Given the description of an element on the screen output the (x, y) to click on. 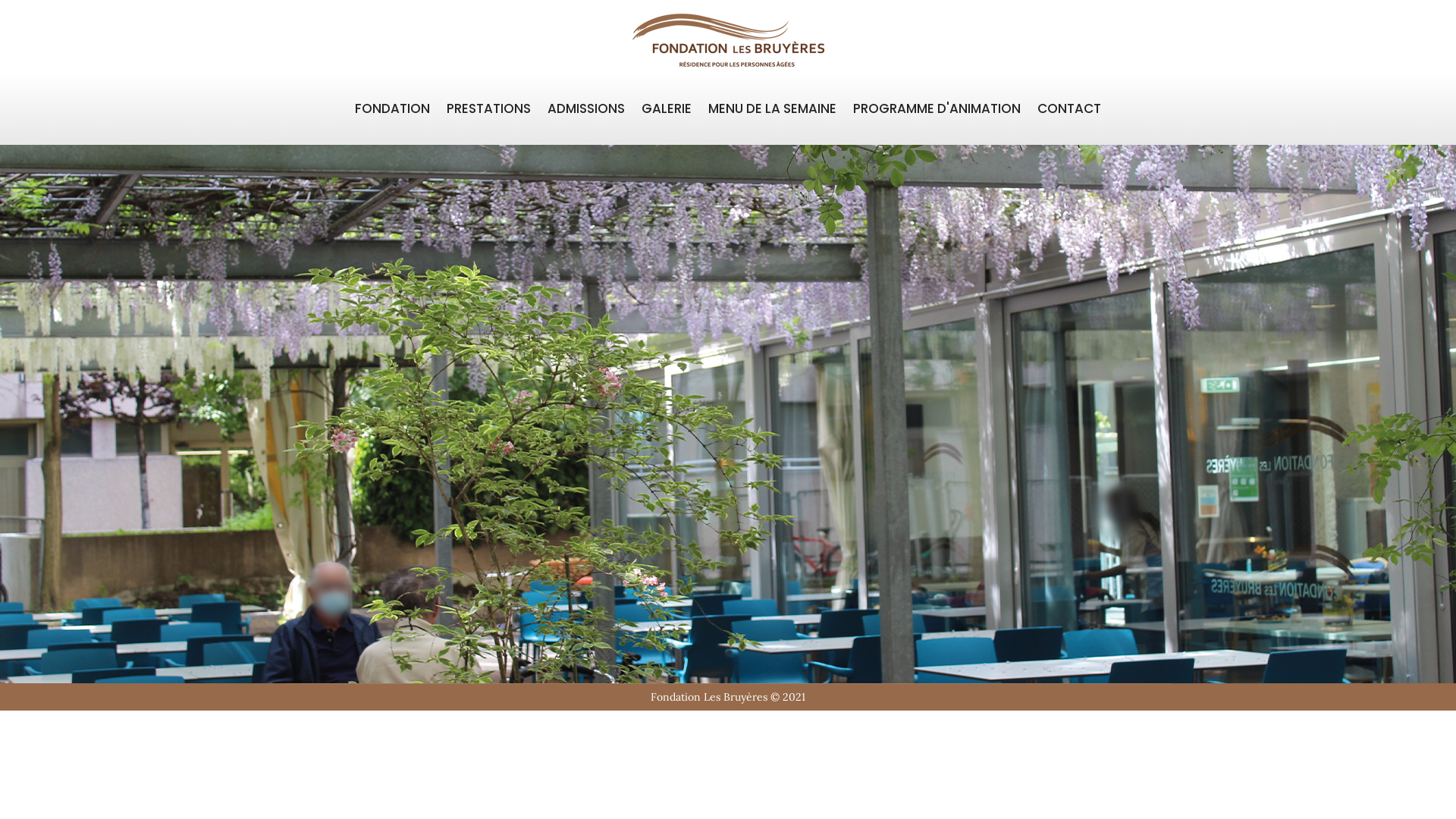
PRESTATIONS Element type: text (488, 108)
PROGRAMME D'ANIMATION Element type: text (936, 108)
MENU DE LA SEMAINE Element type: text (772, 108)
FONDATION Element type: text (391, 108)
CONTACT Element type: text (1069, 108)
GALERIE Element type: text (666, 108)
ADMISSIONS Element type: text (585, 108)
